Given the description of an element on the screen output the (x, y) to click on. 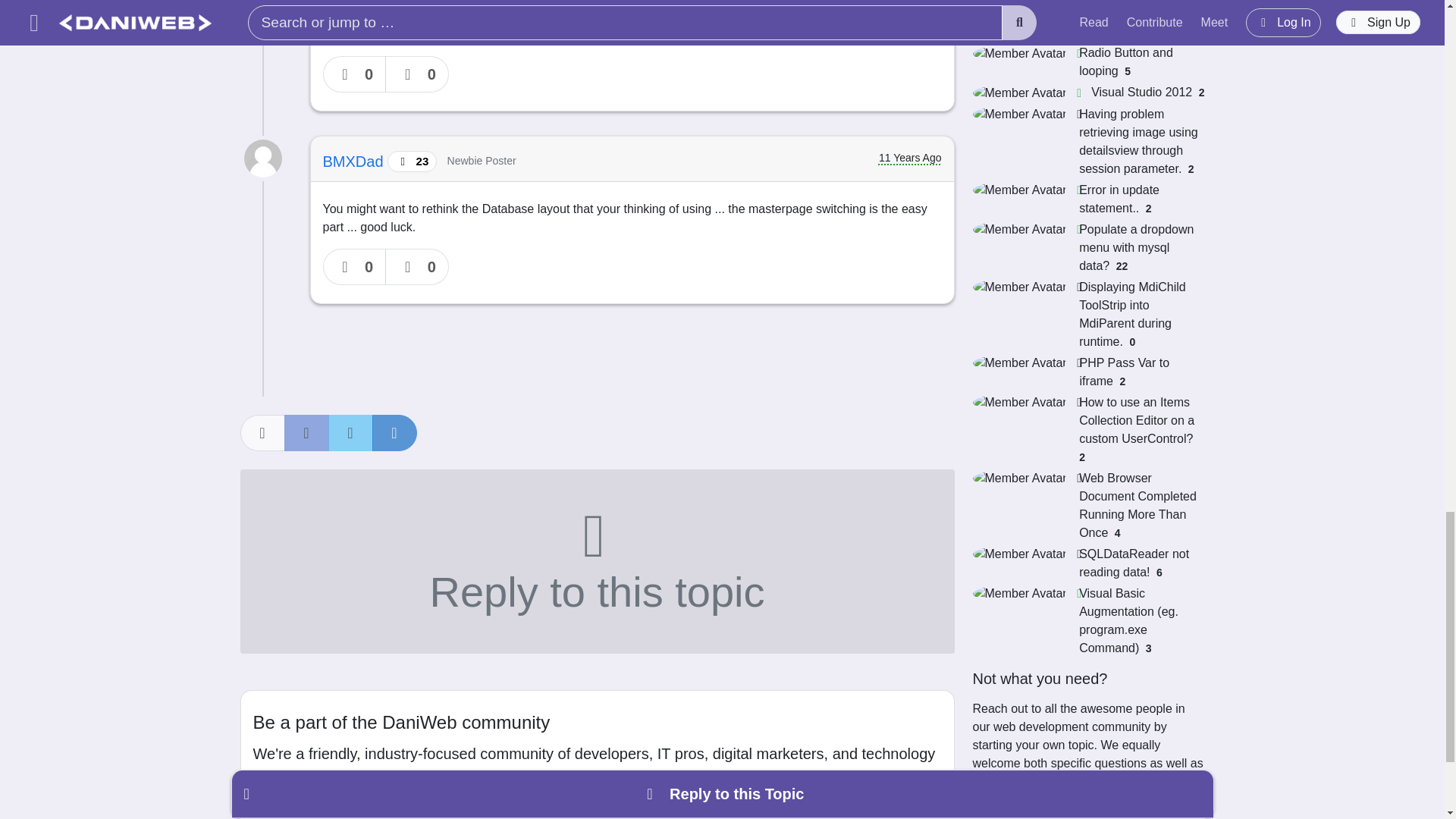
0 (416, 74)
0 (355, 266)
BMXDad (355, 161)
Twitter (349, 432)
Facebook (306, 432)
LinkedIn (393, 432)
0 (355, 74)
Share (261, 432)
0 (416, 266)
